Given the description of an element on the screen output the (x, y) to click on. 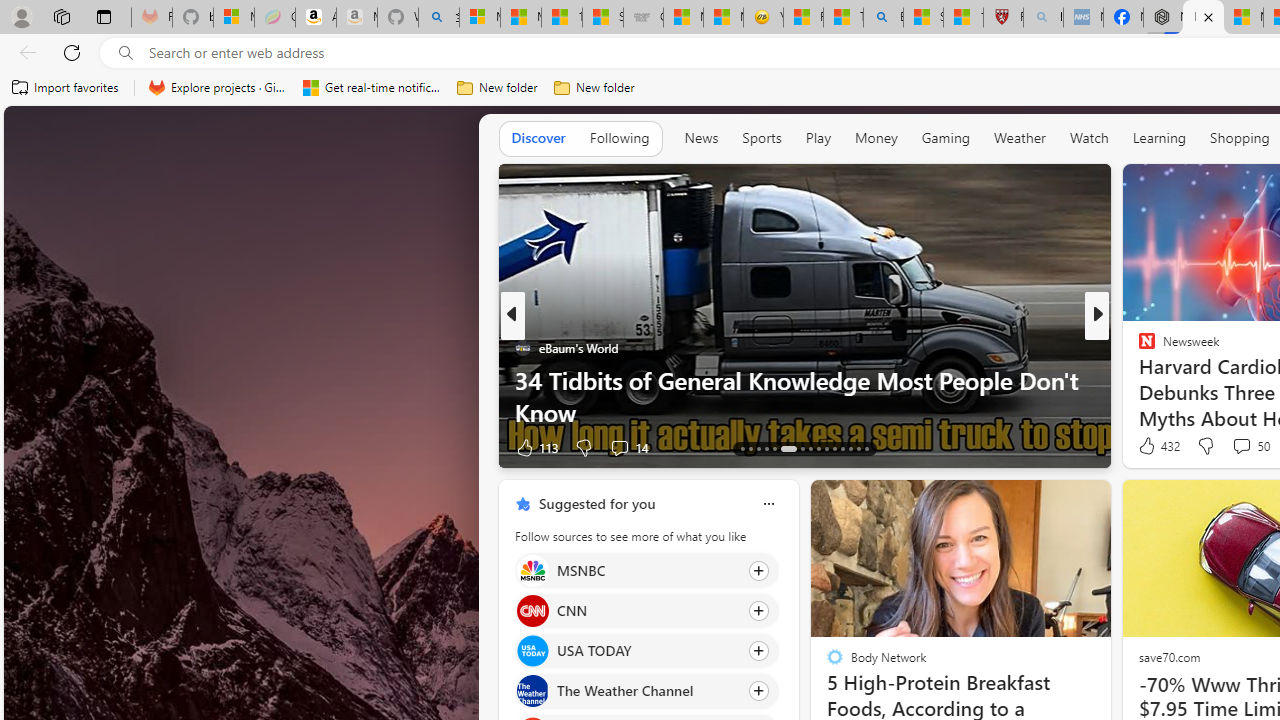
Robert H. Shmerling, MD - Harvard Health (1003, 17)
Start the conversation (1222, 447)
The Weather Channel (532, 691)
Ad Choice (479, 448)
AutomationID: tab-78 (850, 448)
View comments 29 Comment (1234, 447)
AutomationID: tab-67 (750, 448)
Watch (1089, 138)
22 Like (1149, 447)
View comments 14 Comment (1244, 447)
View comments 30 Comment (11, 447)
MSNBC (532, 569)
113 Like (535, 447)
